Given the description of an element on the screen output the (x, y) to click on. 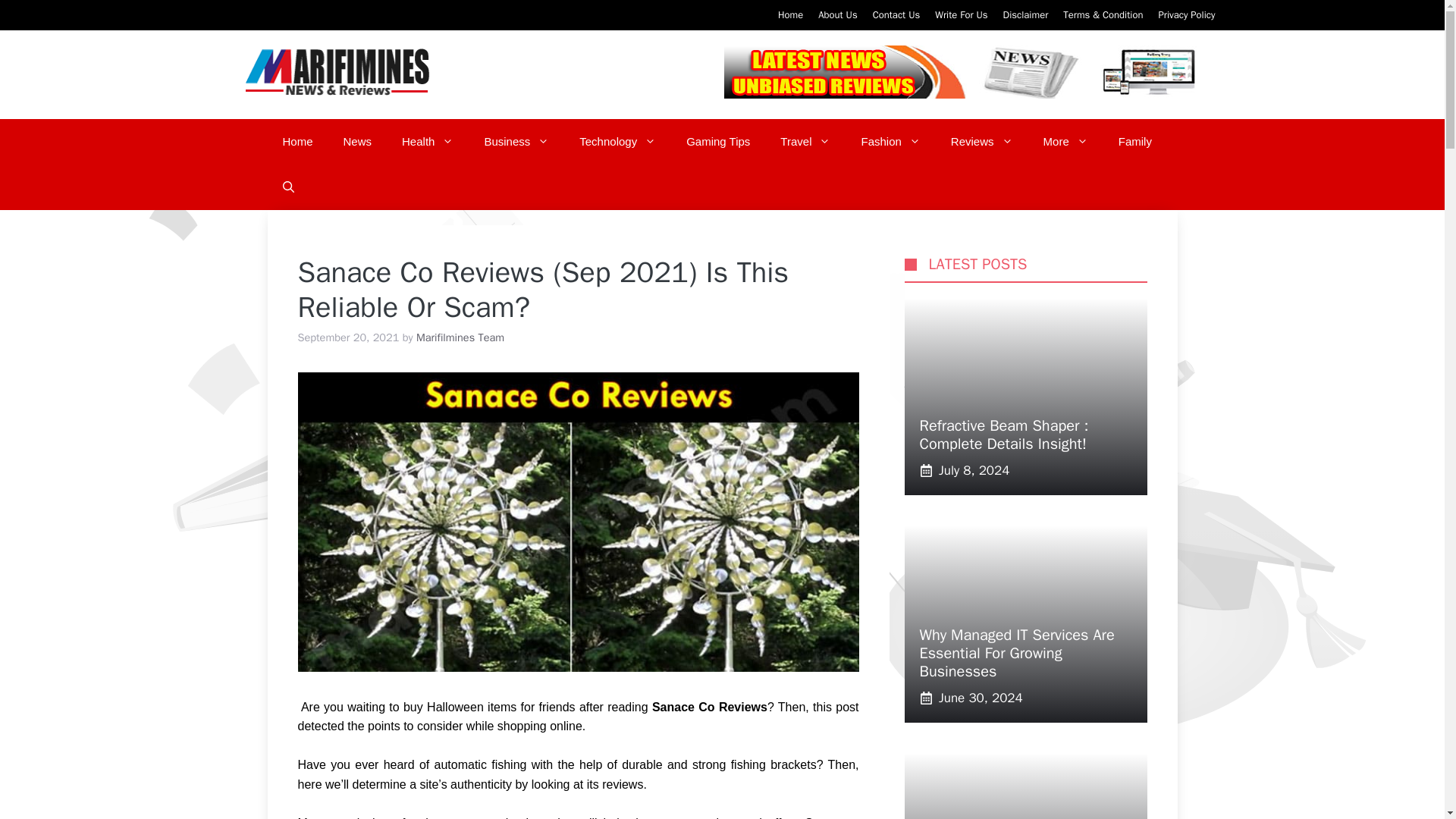
Fashion (889, 141)
News (358, 141)
Contact Us (896, 14)
Travel (805, 141)
Reviews (981, 141)
About Us (837, 14)
Business (516, 141)
Privacy Policy (1185, 14)
View all posts by Marifilmines Team (459, 336)
Technology (617, 141)
Write For Us (960, 14)
Disclaimer (1025, 14)
Home (790, 14)
Gaming Tips (718, 141)
Health (427, 141)
